Given the description of an element on the screen output the (x, y) to click on. 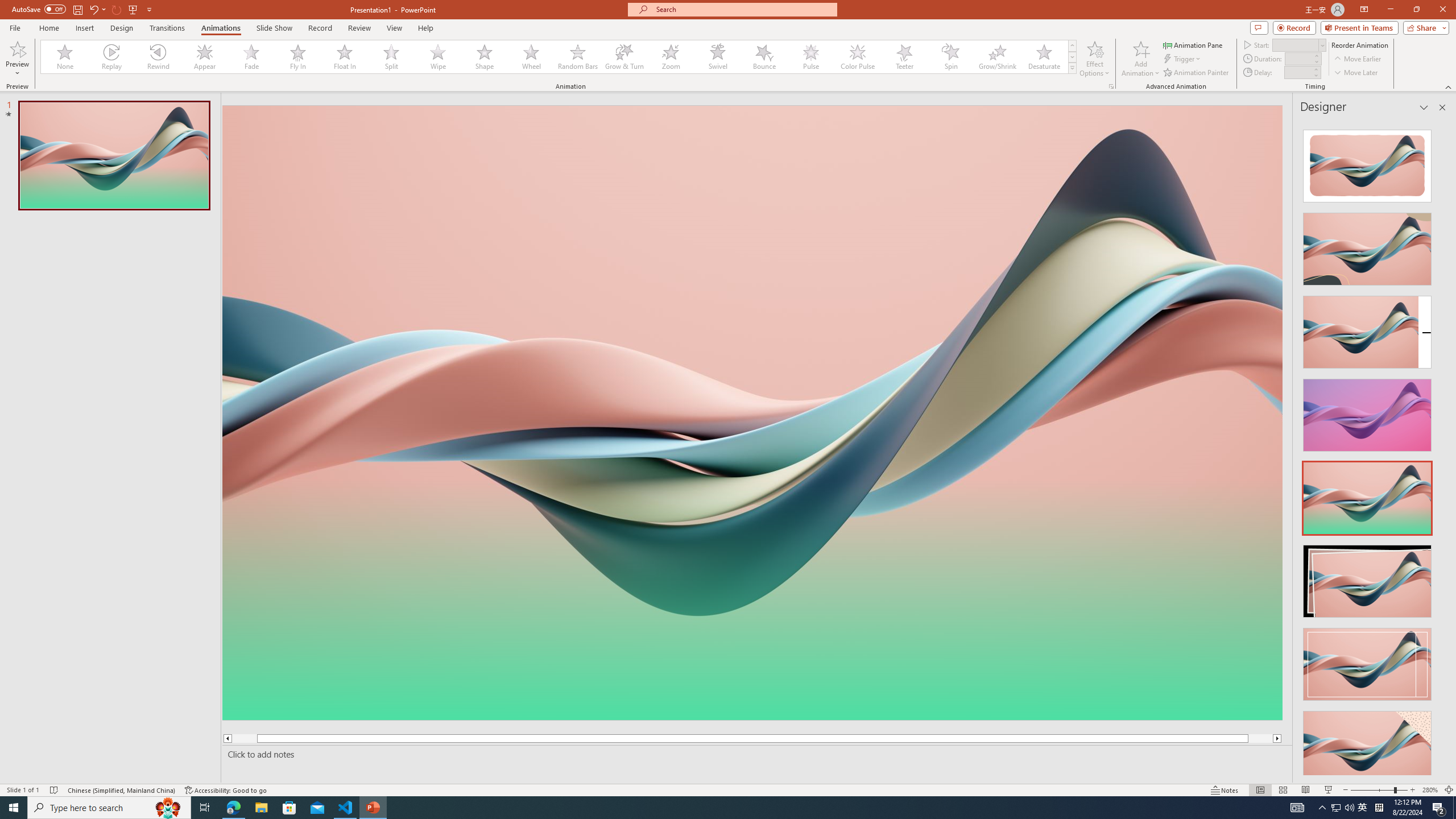
Shape (484, 56)
Desaturate (1043, 56)
AutomationID: AnimationGallery (558, 56)
